Given the description of an element on the screen output the (x, y) to click on. 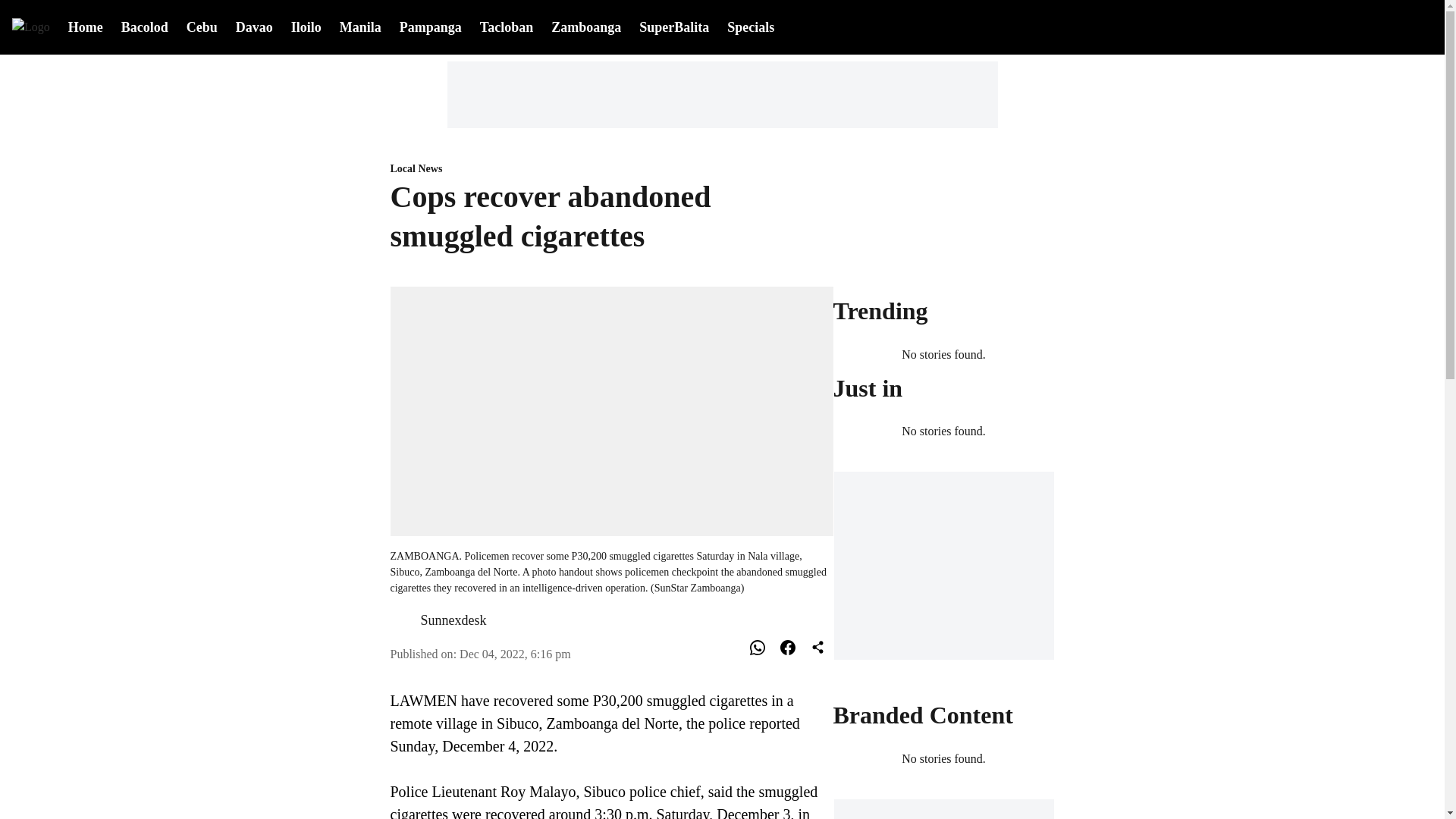
Zamboanga (586, 26)
Local News (611, 169)
Cebu (201, 26)
Bacolod (144, 26)
SuperBalita (674, 27)
Davao (254, 26)
Home (85, 26)
Sunnexdesk (453, 620)
Manila (360, 26)
2022-12-04 18:16 (515, 653)
Tacloban (506, 26)
Iloilo (306, 26)
Dark Mode (1382, 27)
Pampanga (429, 26)
